Given the description of an element on the screen output the (x, y) to click on. 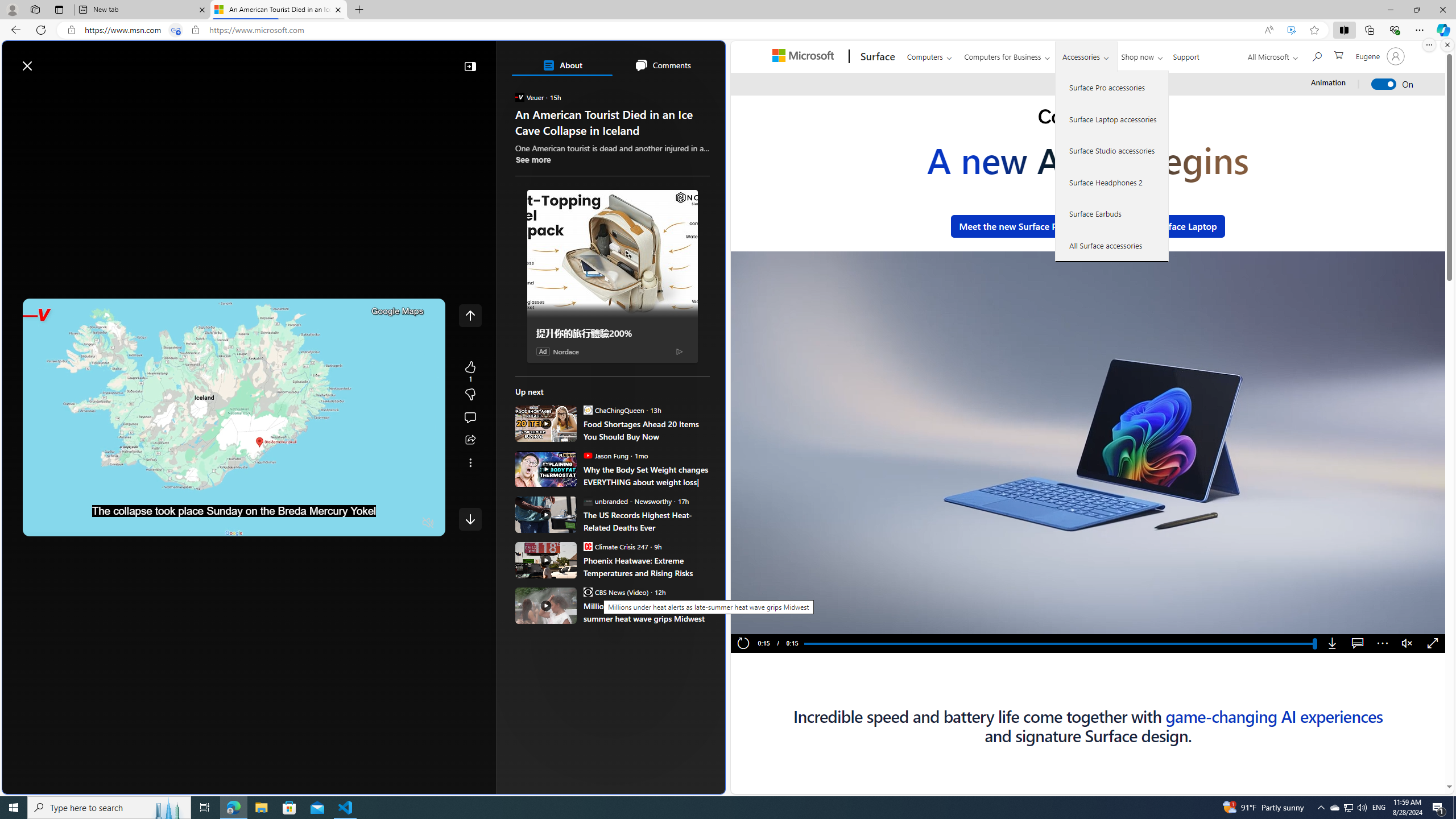
Animation On (1383, 84)
Surface Earbuds (1112, 214)
AutomationID: pause-svg (762, 621)
Support (1185, 54)
Unmute (1406, 643)
Account manager for Eugene (1378, 55)
CBS News (Video) (587, 591)
